Given the description of an element on the screen output the (x, y) to click on. 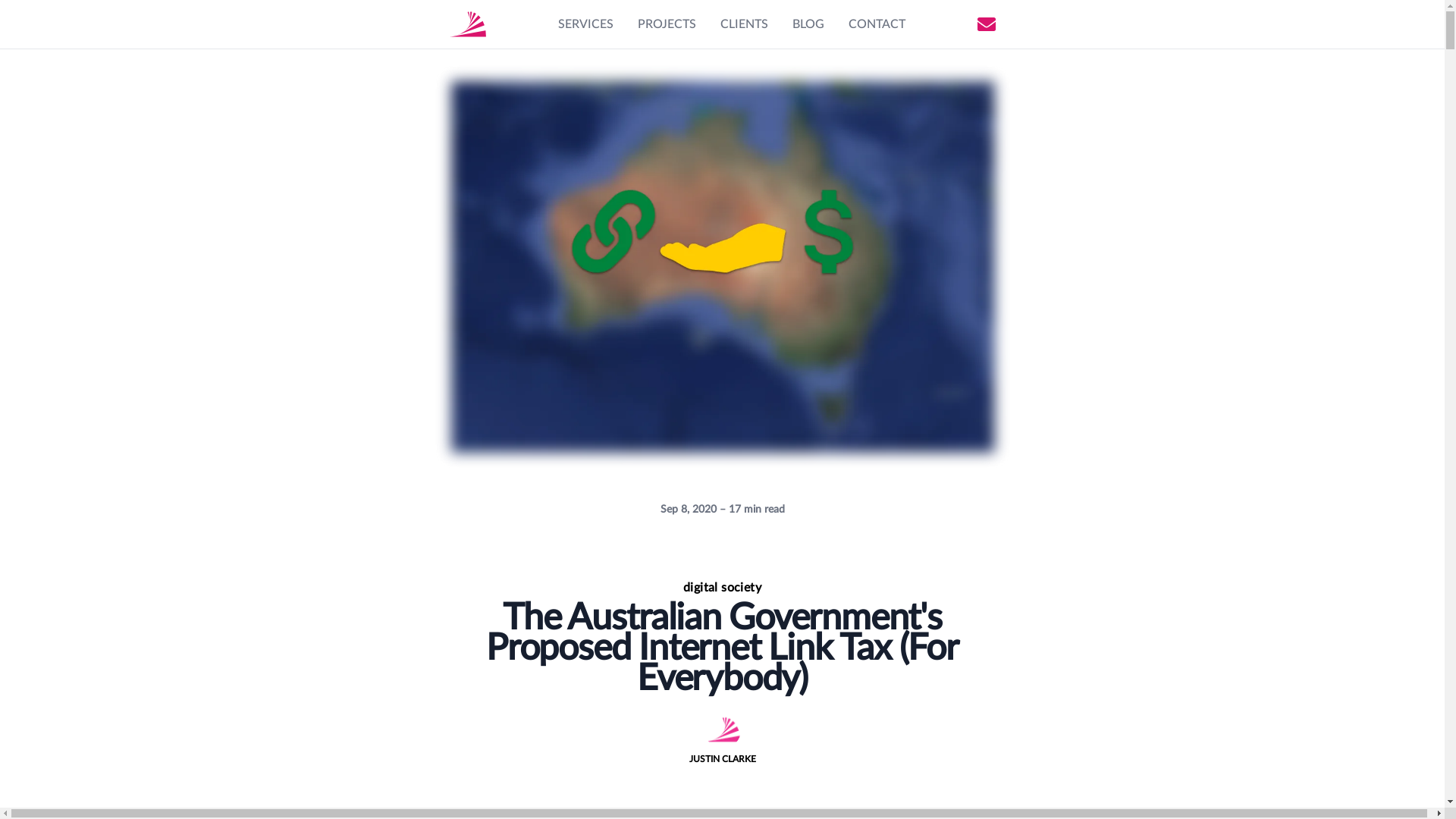
PROJECTS Element type: text (665, 24)
CONTACT Element type: text (875, 24)
CLIENTS Element type: text (744, 24)
SERVICES Element type: text (585, 24)
BLOG Element type: text (807, 24)
Email us Element type: hover (985, 24)
digital society Element type: text (722, 587)
